Given the description of an element on the screen output the (x, y) to click on. 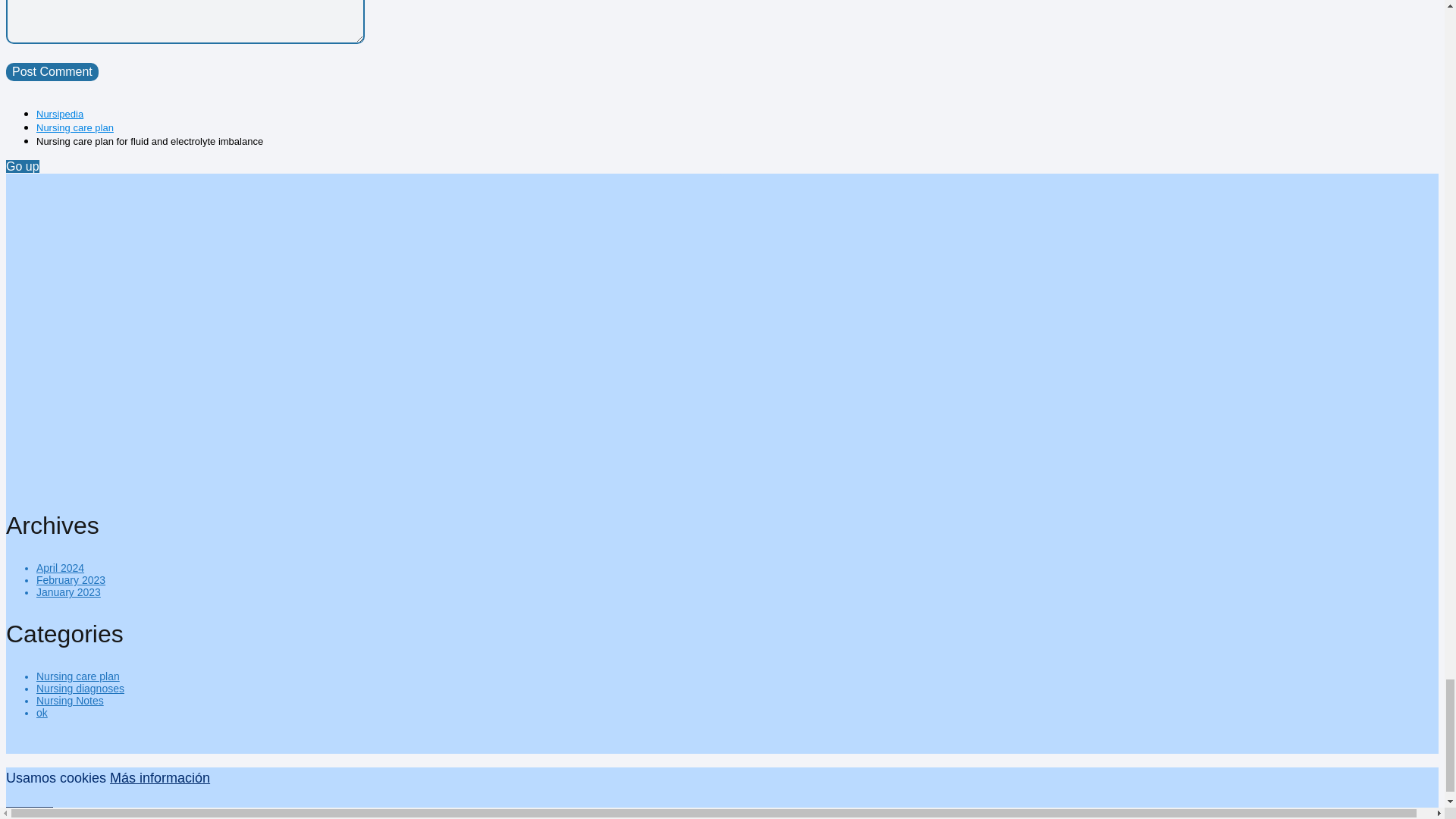
Nursipedia (59, 113)
Post Comment (52, 72)
Nursing care plan (74, 127)
January 2023 (68, 592)
February 2023 (70, 580)
Post Comment (52, 72)
April 2024 (60, 567)
